Given the description of an element on the screen output the (x, y) to click on. 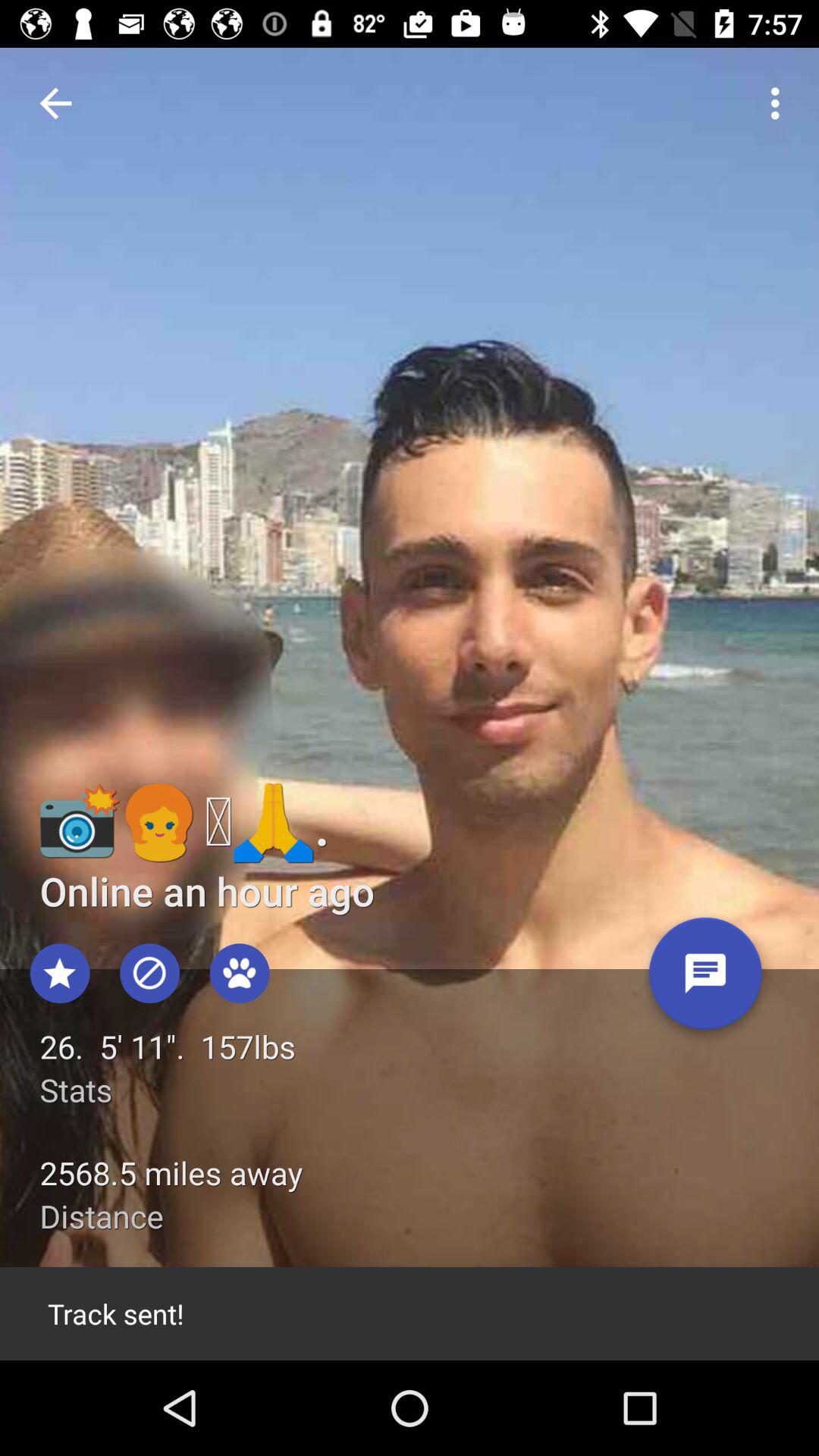
send message (705, 979)
